Given the description of an element on the screen output the (x, y) to click on. 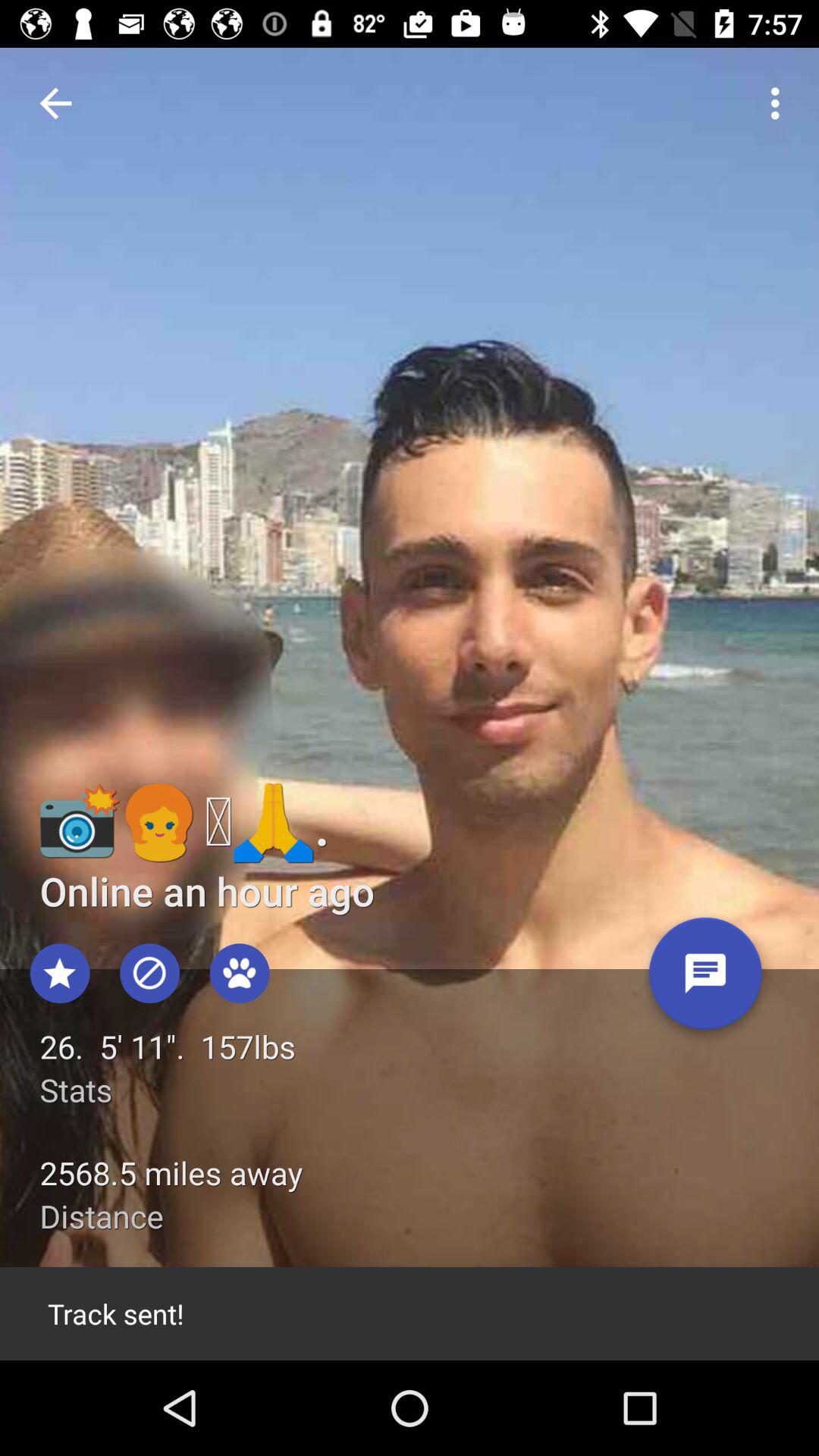
send message (705, 979)
